Given the description of an element on the screen output the (x, y) to click on. 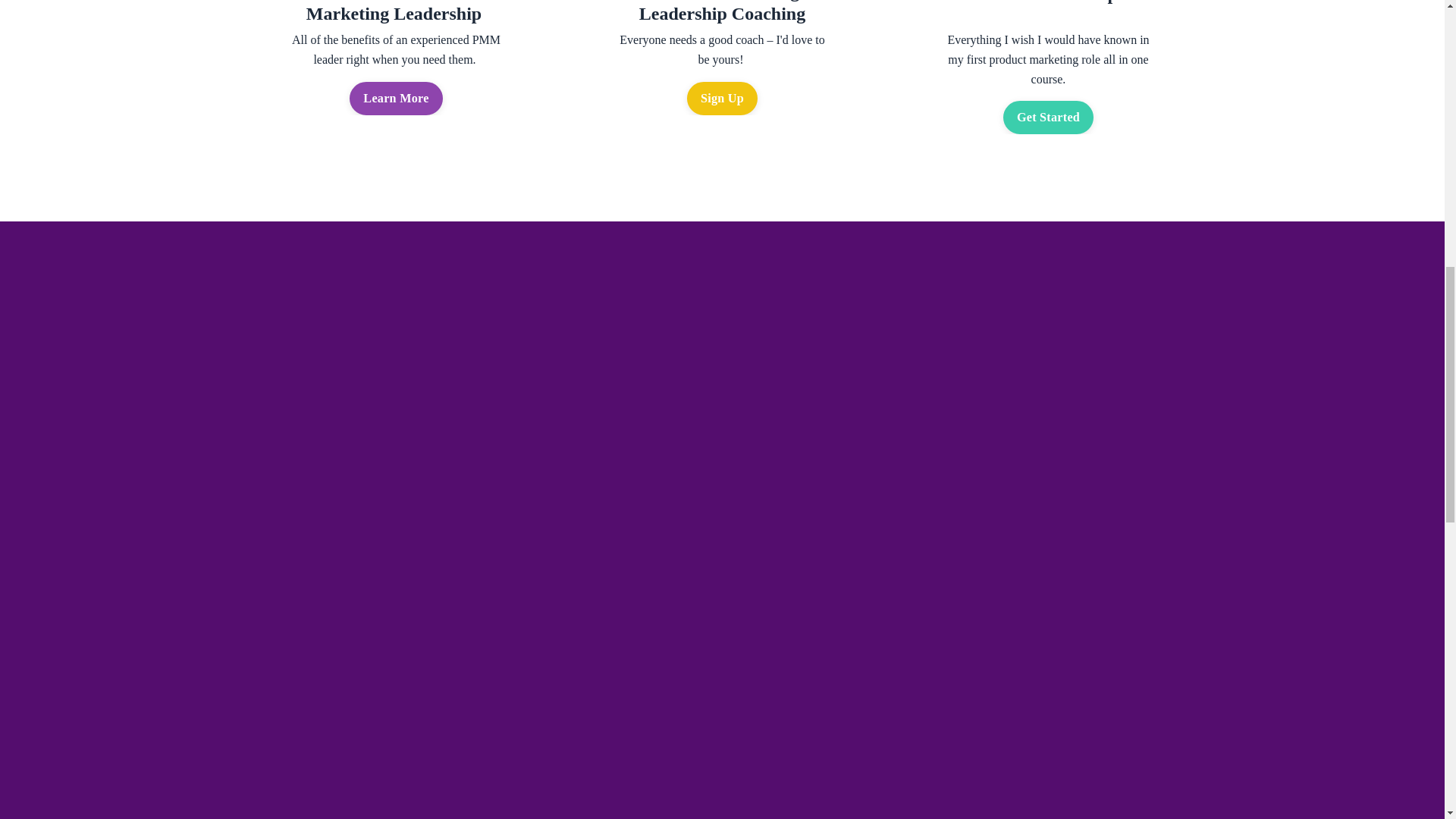
Get Started (1048, 117)
Learn More (395, 98)
Sign Up (722, 98)
